Given the description of an element on the screen output the (x, y) to click on. 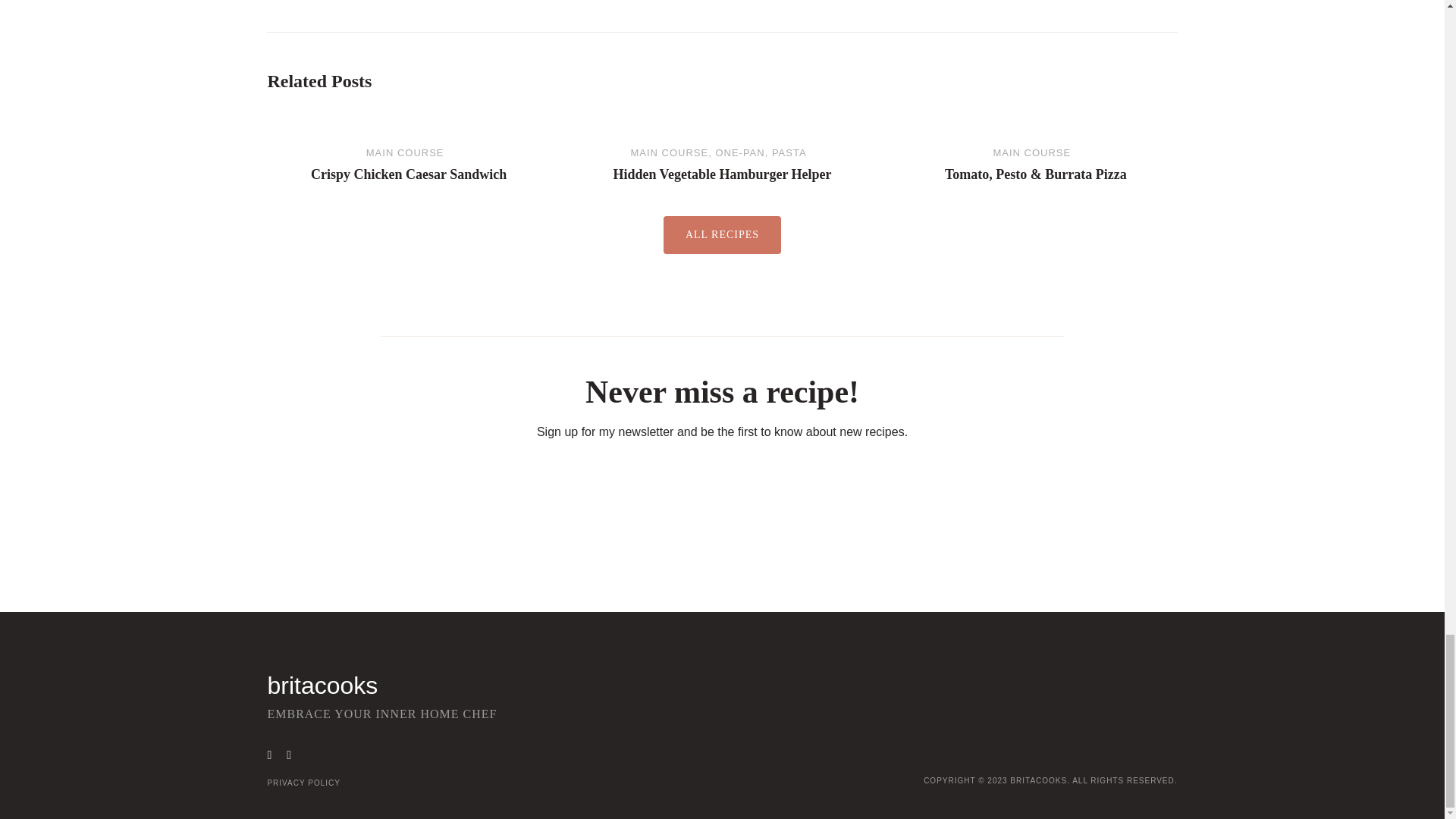
Main Course (1031, 152)
One-Pan (739, 152)
Main Course (405, 152)
Main Course (668, 152)
Pasta (788, 152)
